Given the description of an element on the screen output the (x, y) to click on. 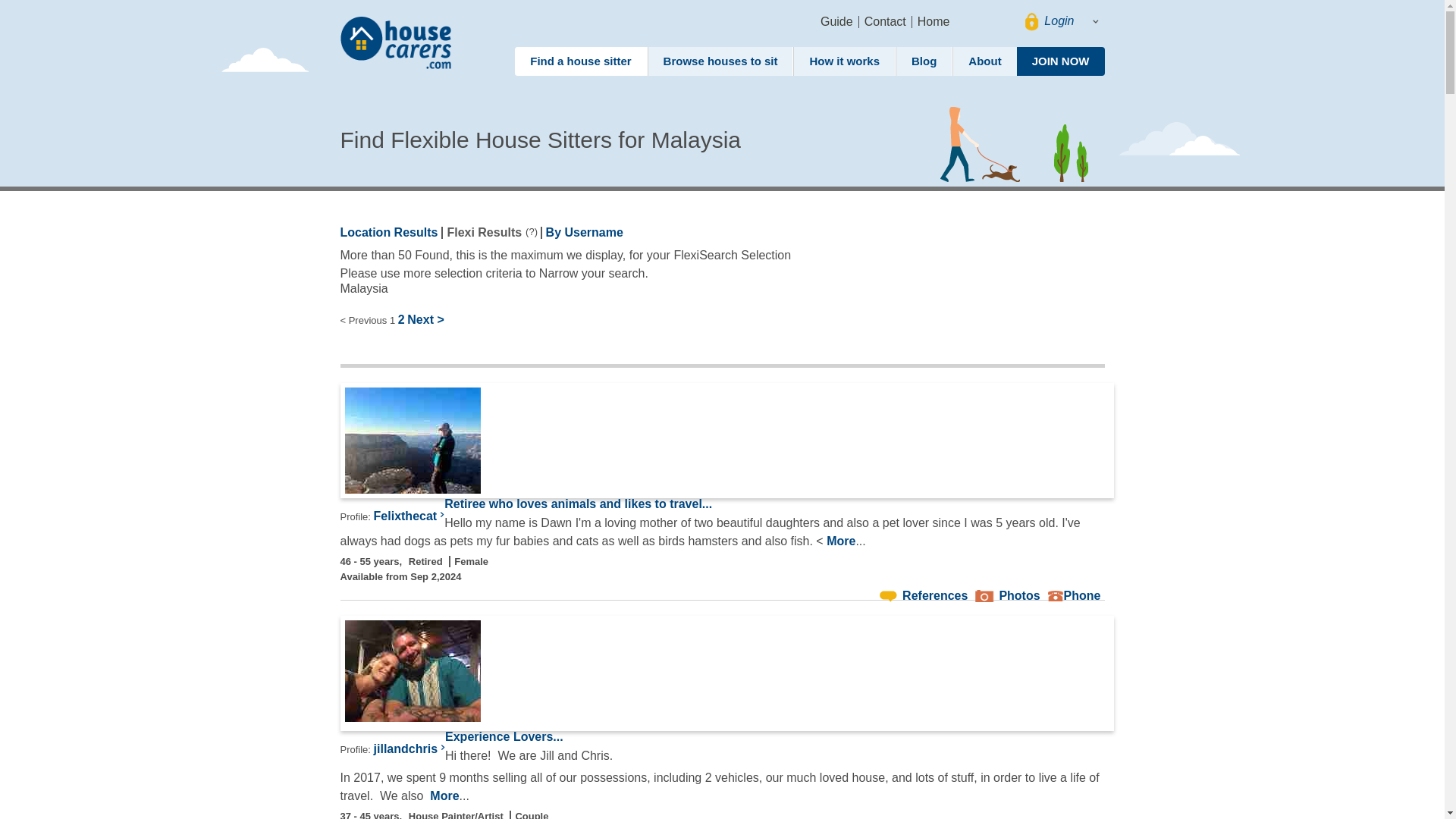
JOIN NOW (1060, 61)
Login (1059, 21)
Blog (923, 61)
Home (933, 21)
Browse houses to sit (720, 61)
Find a house sitter (580, 61)
Matching House Carers and Housesitters Worldwide (396, 43)
About (984, 61)
Guide (837, 21)
How it works (844, 61)
